Given the description of an element on the screen output the (x, y) to click on. 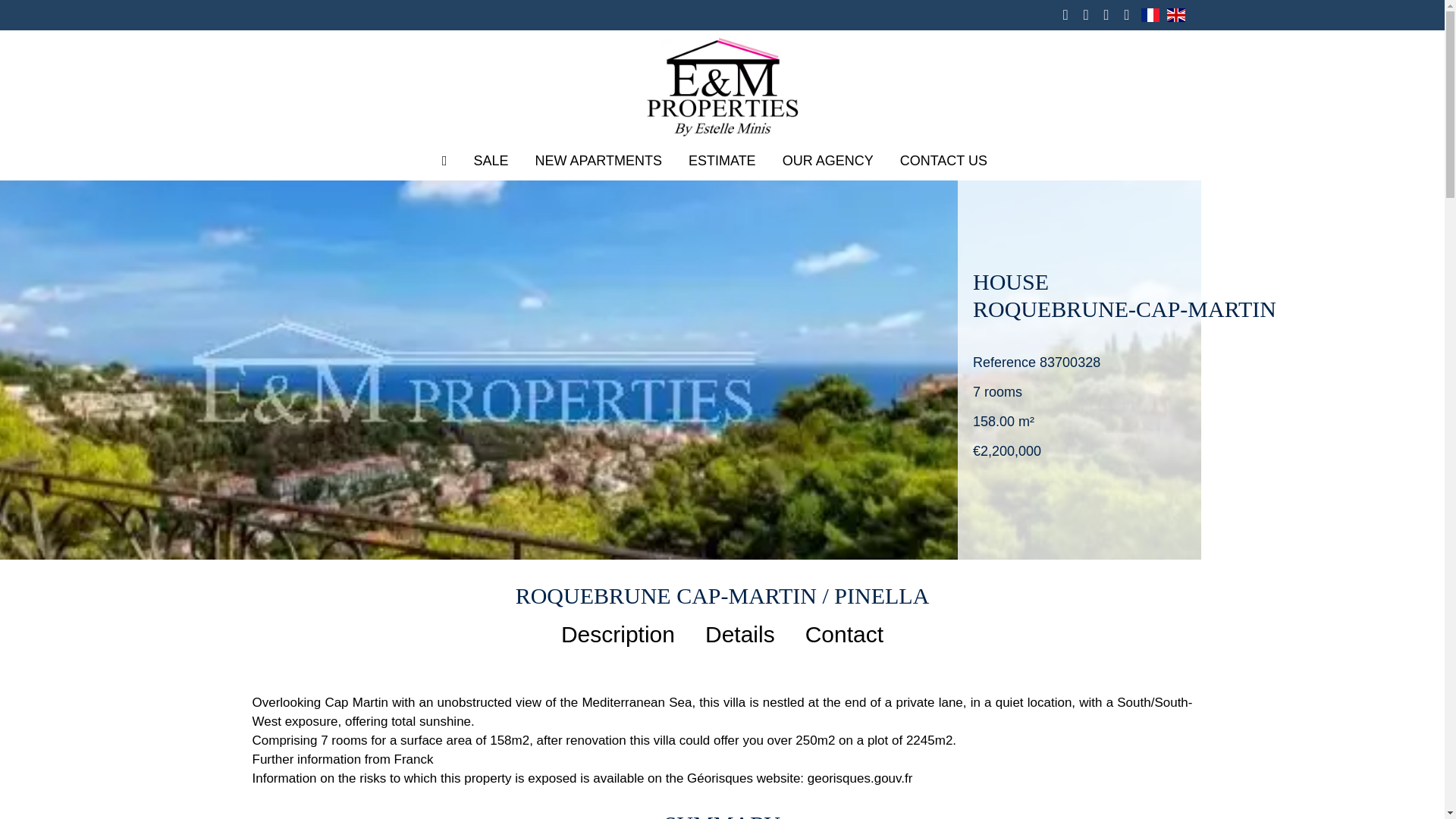
CONTACT US (943, 161)
SALE (491, 161)
OUR AGENCY (828, 161)
ESTIMATE (721, 161)
Details (739, 633)
Contact (844, 633)
Description (617, 633)
NEW APARTMENTS (598, 161)
